Given the description of an element on the screen output the (x, y) to click on. 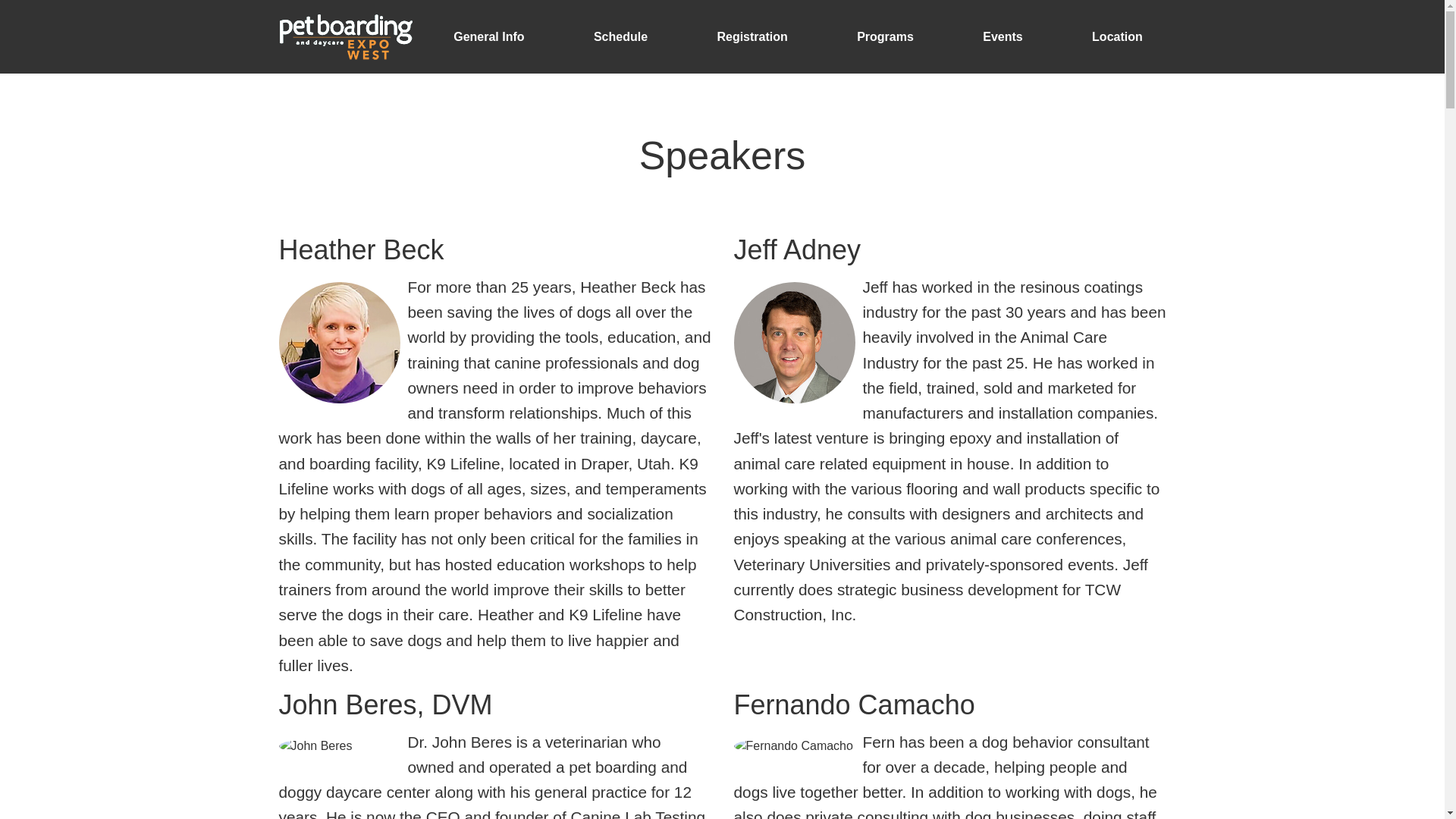
Schedule (619, 36)
General Info (488, 36)
Location (1117, 36)
Events (1002, 36)
Registration (751, 36)
Programs (885, 36)
